Given the description of an element on the screen output the (x, y) to click on. 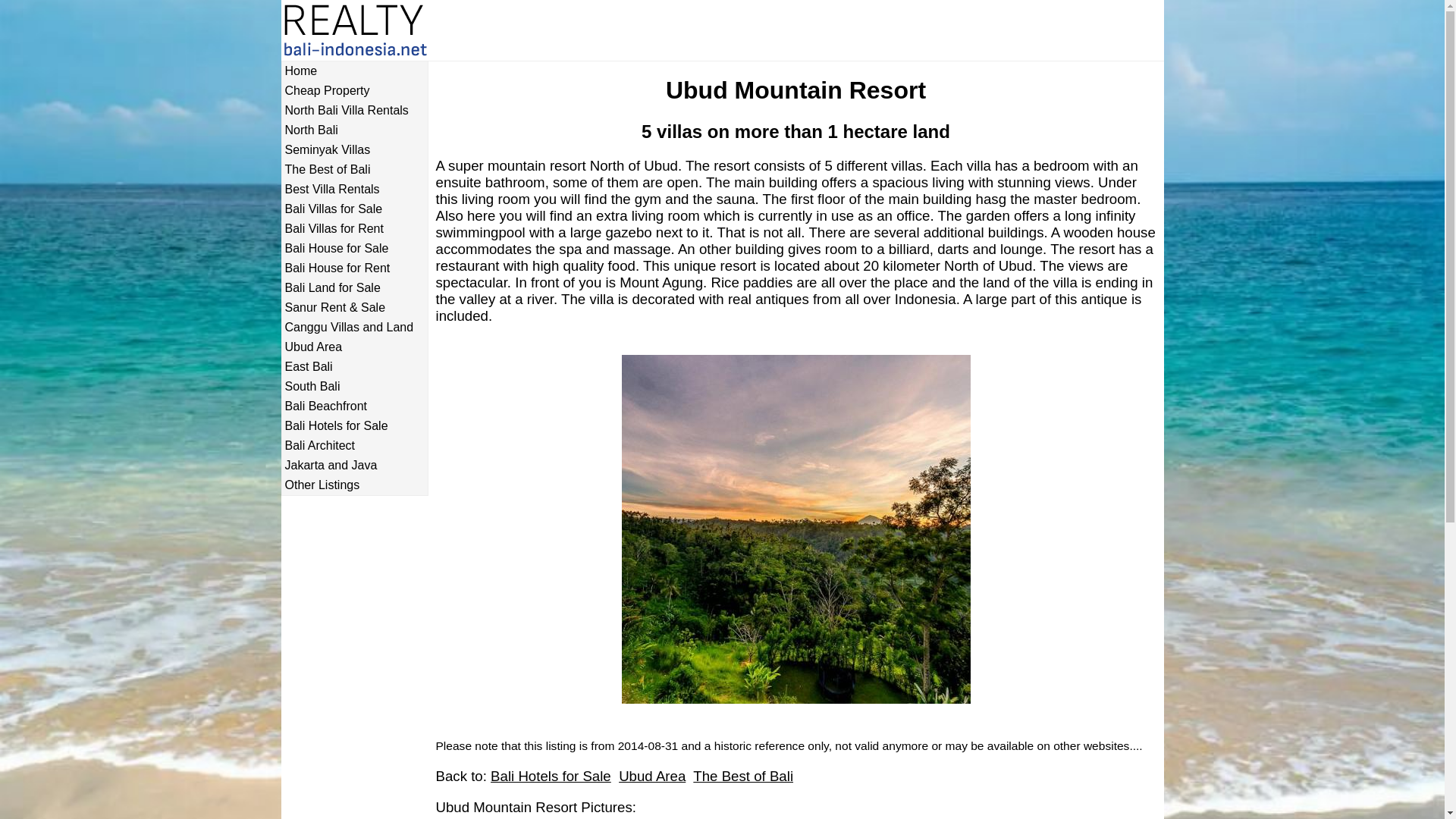
The Best of Bali (743, 775)
South Bali (354, 386)
Other Listings (354, 485)
Bali Realty bali-indonesia.net (366, 31)
Cheap Property (354, 90)
Bali Villas for Sale (354, 209)
Home (354, 70)
Bali Beachfront (354, 406)
Jakarta and Java (354, 465)
Bali House for Rent (354, 268)
